Given the description of an element on the screen output the (x, y) to click on. 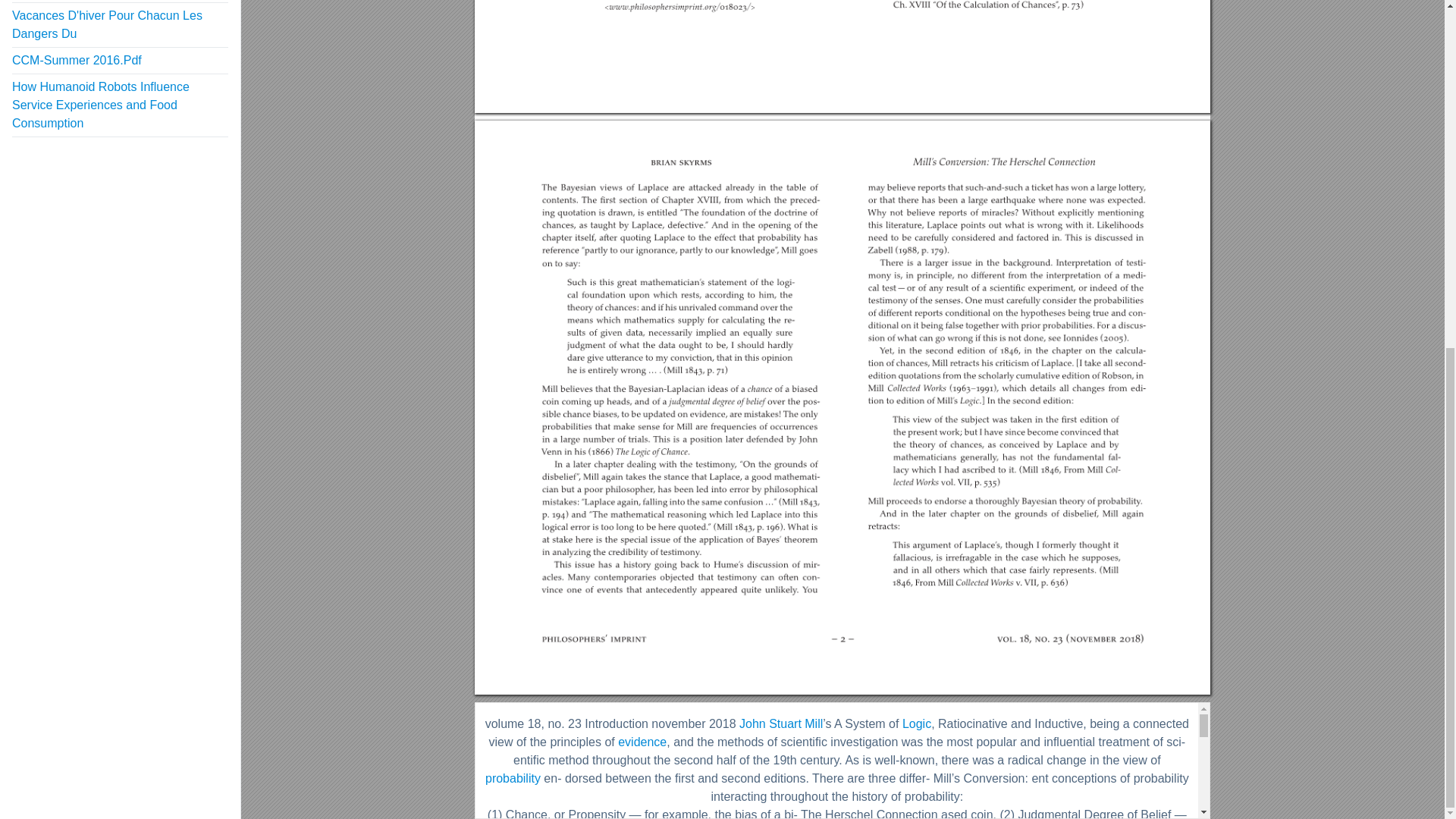
probability (512, 778)
John Stuart Mill (780, 723)
CCM-Summer 2016.Pdf (76, 59)
Logic (916, 723)
Vacances D'hiver Pour Chacun Les Dangers Du (106, 24)
evidence (641, 741)
